Given the description of an element on the screen output the (x, y) to click on. 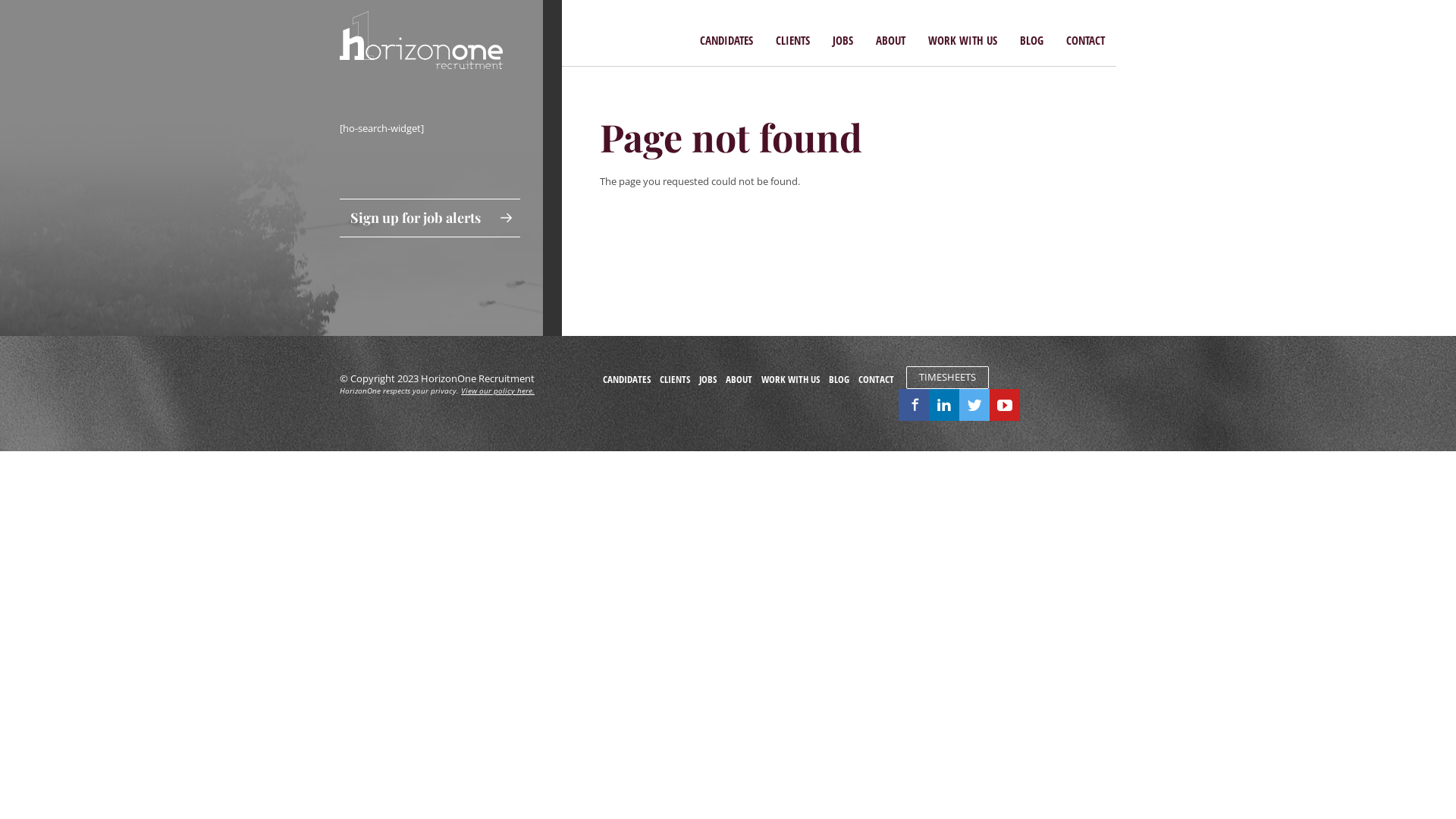
Facebook Element type: text (913, 404)
CANDIDATES Element type: text (626, 379)
BLOG Element type: text (838, 379)
CANDIDATES Element type: text (726, 39)
JOBS Element type: text (842, 39)
YouTube Element type: text (1004, 404)
WORK WITH US Element type: text (790, 379)
WORK WITH US Element type: text (962, 39)
ABOUT Element type: text (890, 39)
ABOUT Element type: text (738, 379)
JOBS Element type: text (707, 379)
TIMESHEETS Element type: text (947, 377)
Twitter Element type: text (974, 404)
CONTACT Element type: text (875, 379)
CLIENTS Element type: text (792, 39)
CLIENTS Element type: text (674, 379)
LinkedIn Element type: text (943, 404)
View our policy here. Element type: text (497, 390)
CONTACT Element type: text (1085, 39)
Sign up for job alerts Element type: text (429, 217)
BLOG Element type: text (1031, 39)
